Given the description of an element on the screen output the (x, y) to click on. 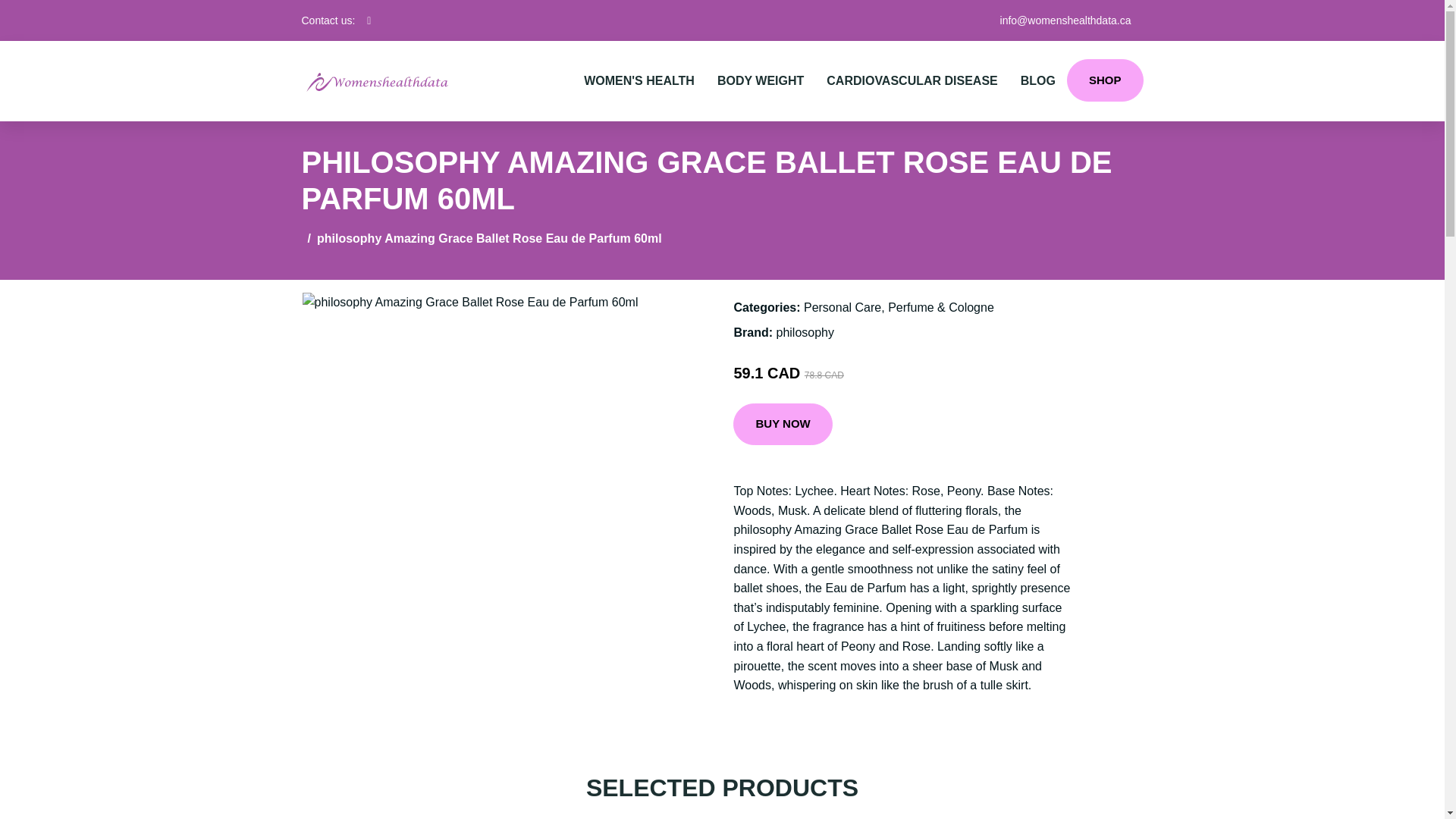
CARDIOVASCULAR DISEASE (912, 80)
BODY WEIGHT (760, 80)
WOMEN'S HEALTH (639, 80)
SHOP (1104, 79)
BUY NOW (782, 424)
Personal Care (841, 307)
